Given the description of an element on the screen output the (x, y) to click on. 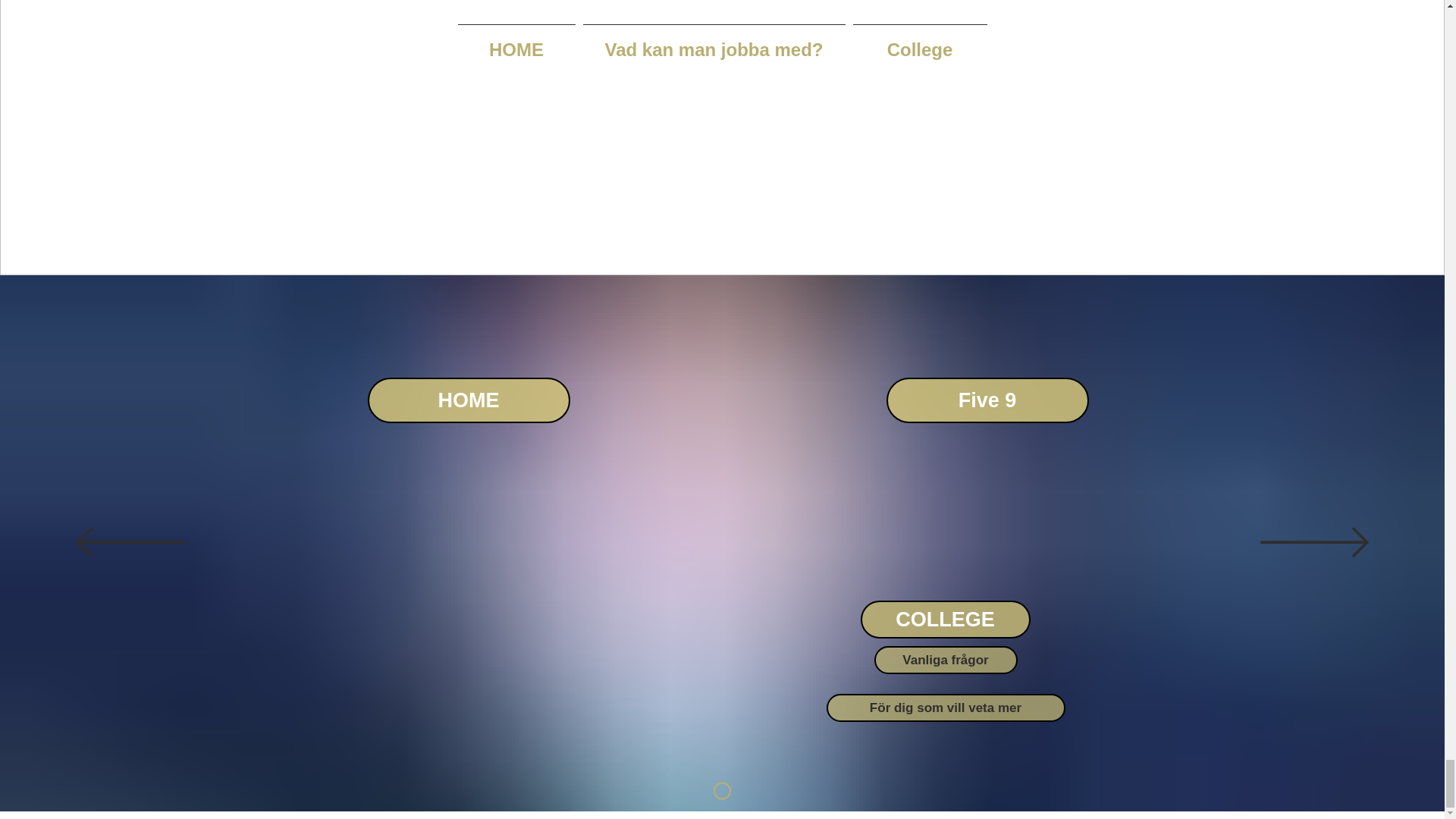
COLLEGE (944, 619)
Five 9 (986, 400)
HOME (467, 400)
